Given the description of an element on the screen output the (x, y) to click on. 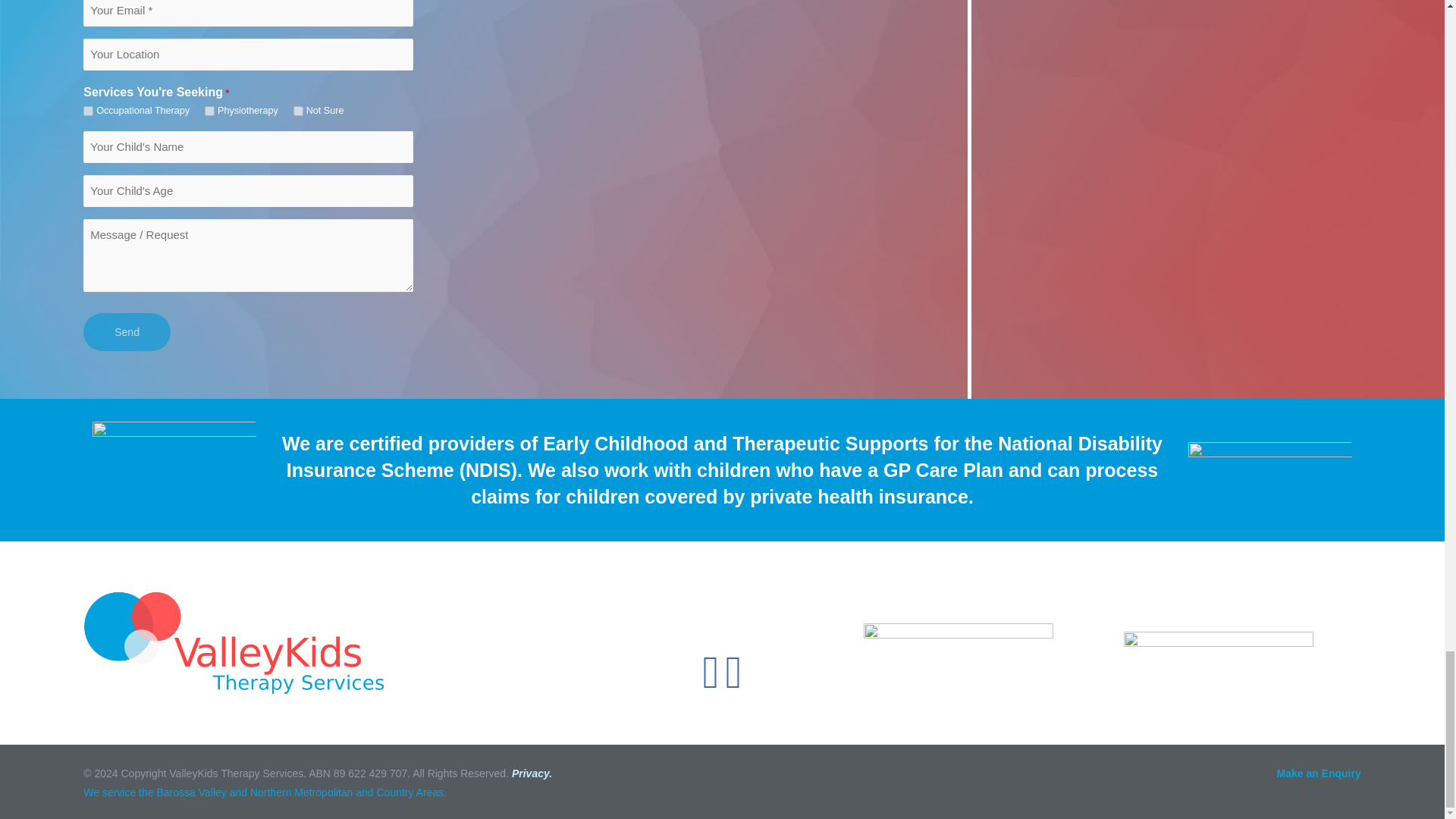
Not Sure (298, 111)
Occupational Therapy (87, 111)
Physiotherapy (209, 111)
Send (126, 331)
